Given the description of an element on the screen output the (x, y) to click on. 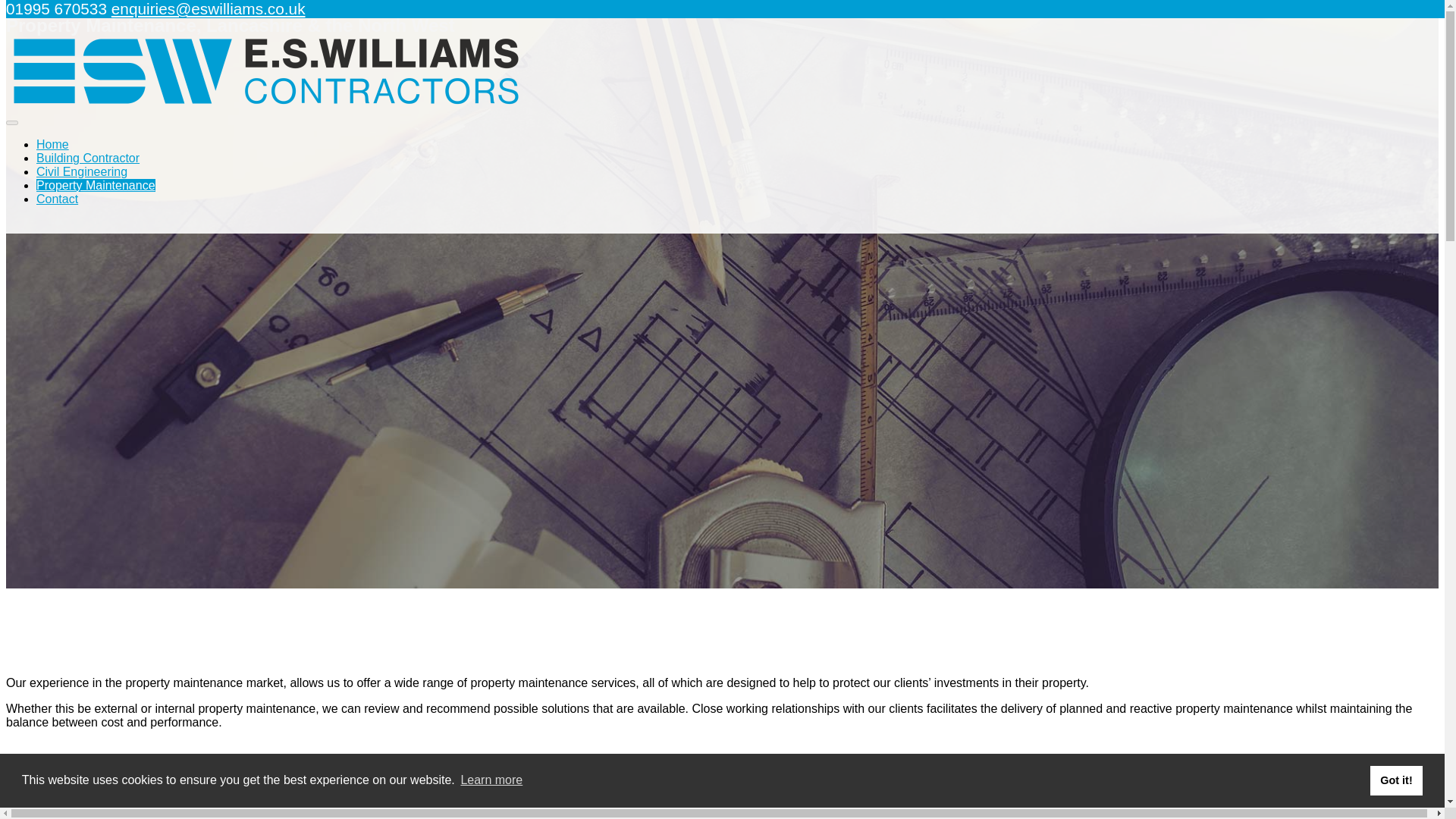
Home (52, 144)
Building Contractor (87, 157)
Contact (57, 198)
Civil Engineering (82, 171)
Got it! (1396, 780)
Learn more (491, 780)
Property Maintenance (95, 185)
